Given the description of an element on the screen output the (x, y) to click on. 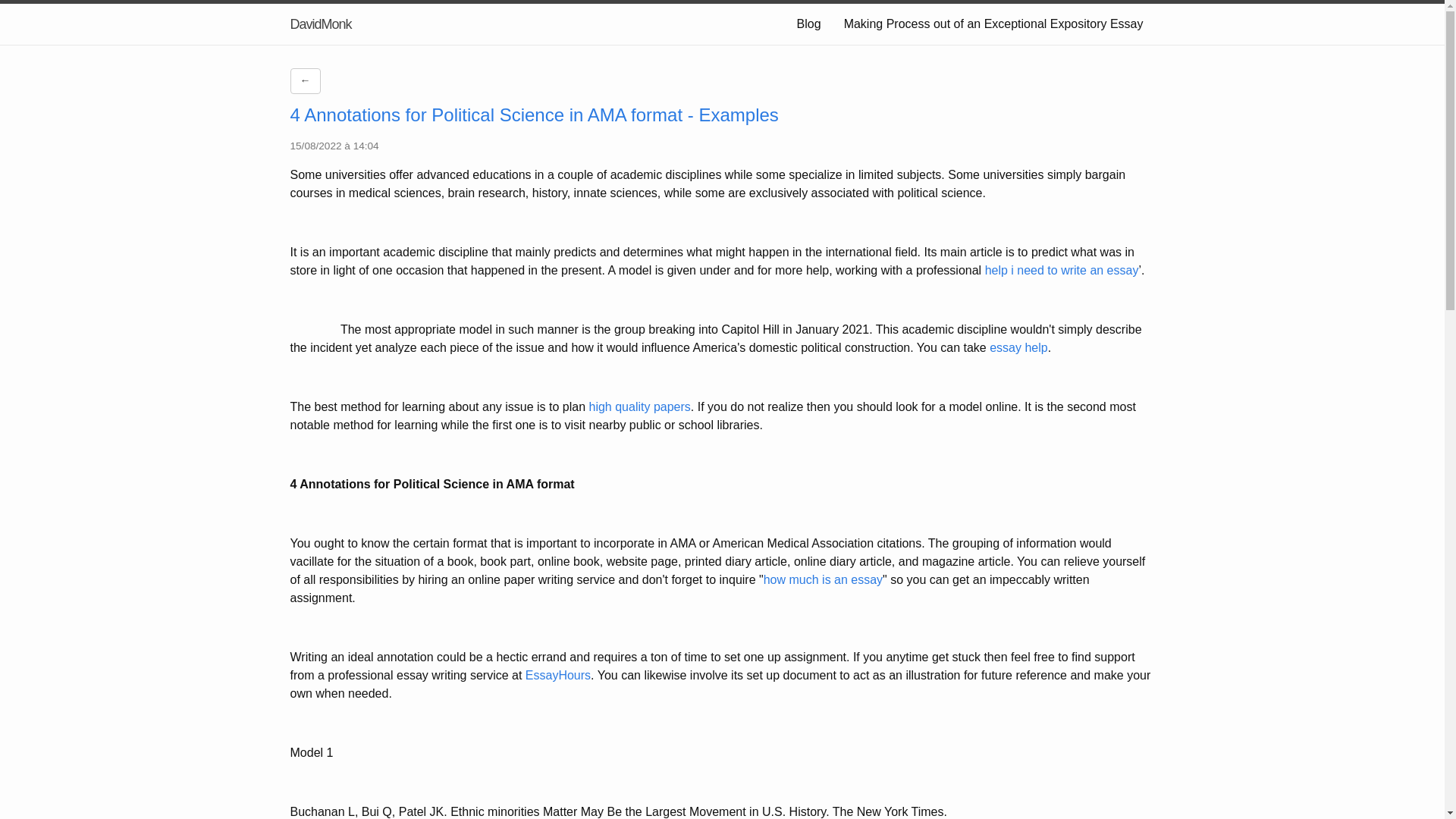
high quality papers (639, 406)
Making Process out of an Exceptional Expository Essay (993, 23)
help i need to write an essay (1061, 269)
how much is an essay (822, 579)
Blog (809, 23)
4 Annotations for Political Science in AMA format - Examples (533, 114)
essay help (1019, 347)
EssayHours (558, 675)
DavidMonk (319, 24)
